Given the description of an element on the screen output the (x, y) to click on. 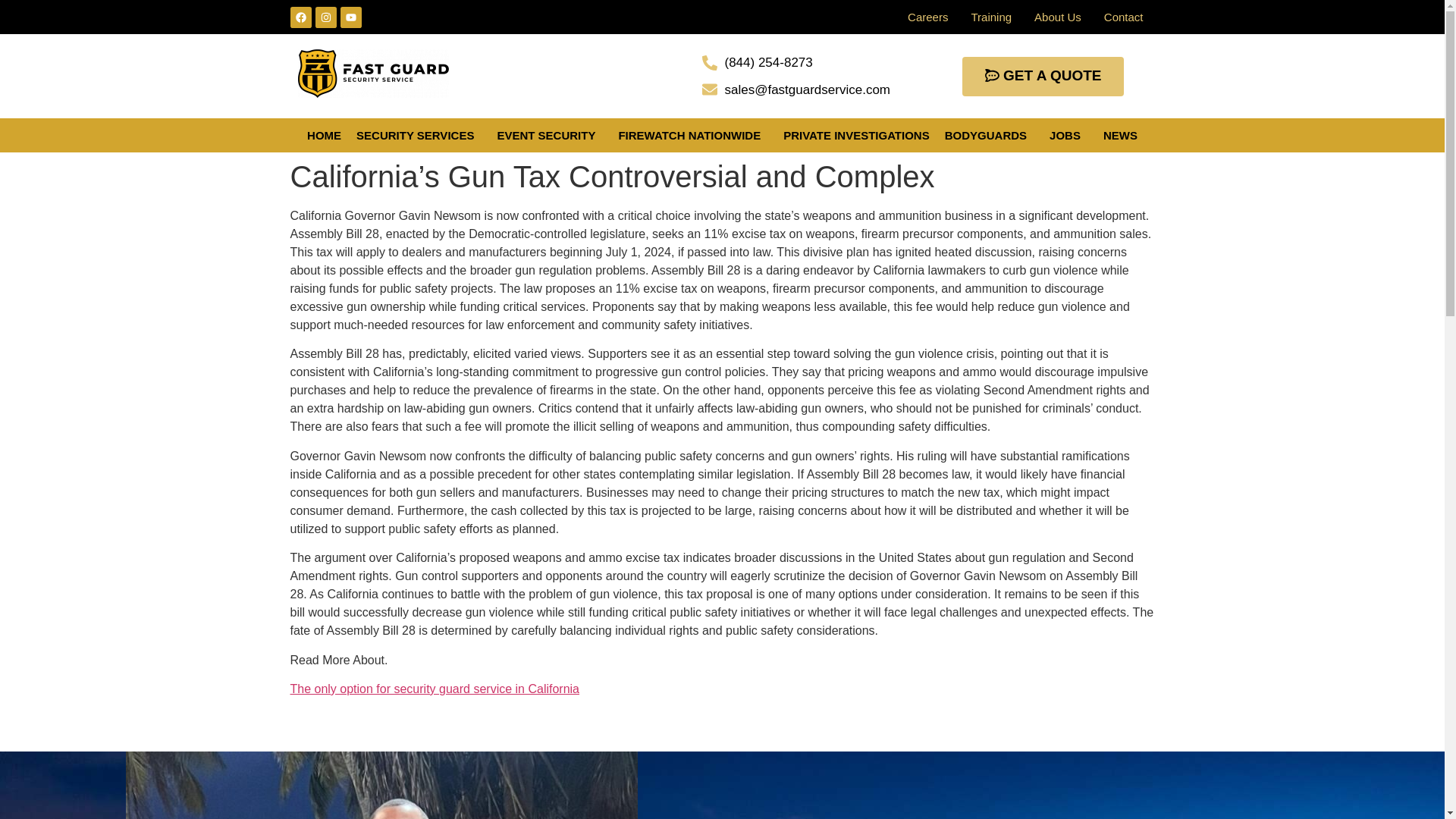
EVENT SECURITY (549, 134)
SECURITY SERVICES (419, 134)
Careers (927, 17)
FIREWATCH NATIONWIDE (693, 134)
HOME (324, 134)
About Us (1058, 17)
GET A QUOTE (1043, 75)
PRIVATE INVESTIGATIONS (856, 134)
BODYGUARDS (989, 134)
Training (991, 17)
JOBS (1069, 134)
Contact (1123, 17)
